Given the description of an element on the screen output the (x, y) to click on. 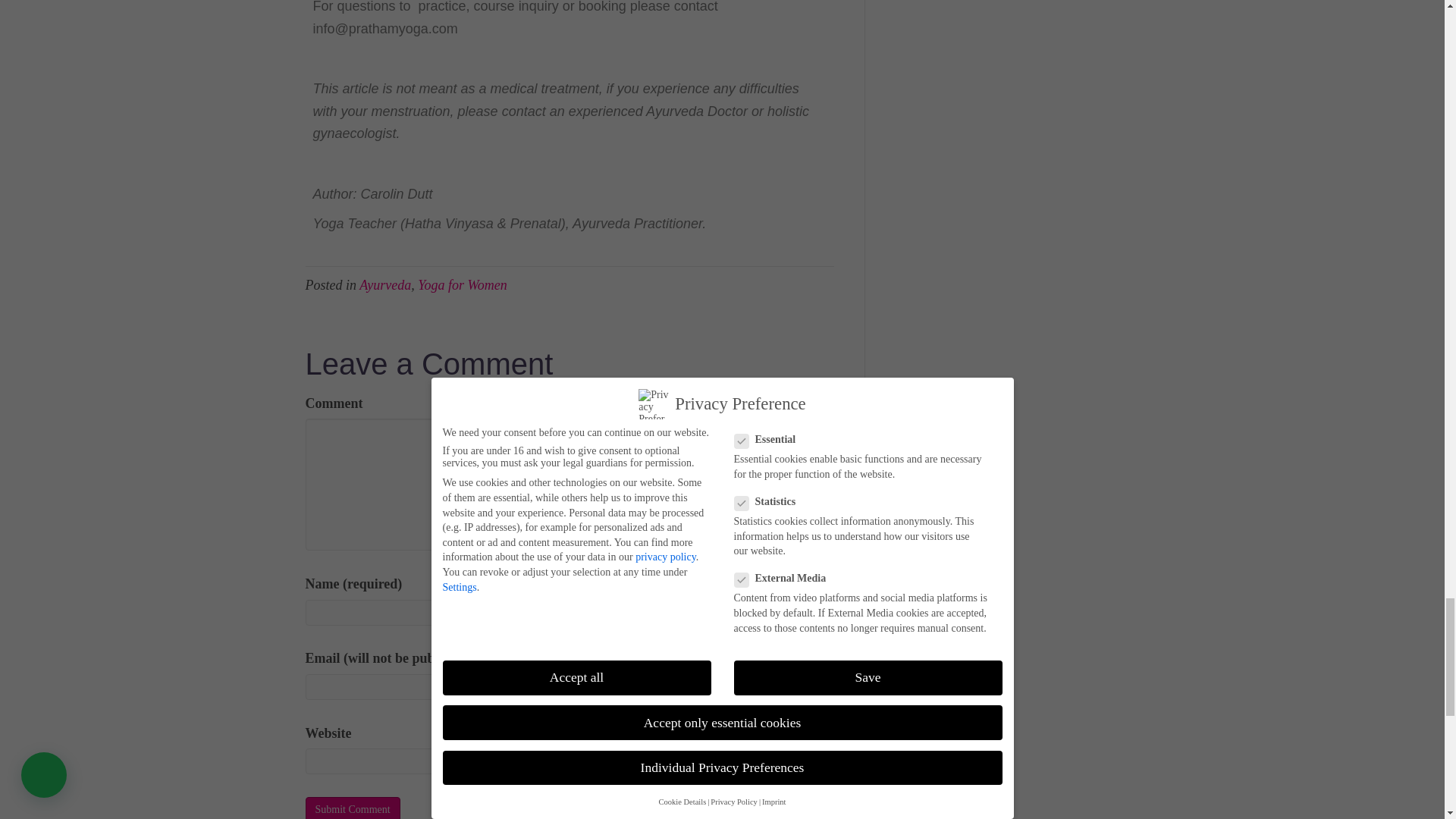
Submit Comment (351, 807)
Submit Comment (351, 807)
Ayurveda (384, 284)
Yoga for Women (461, 284)
